Given the description of an element on the screen output the (x, y) to click on. 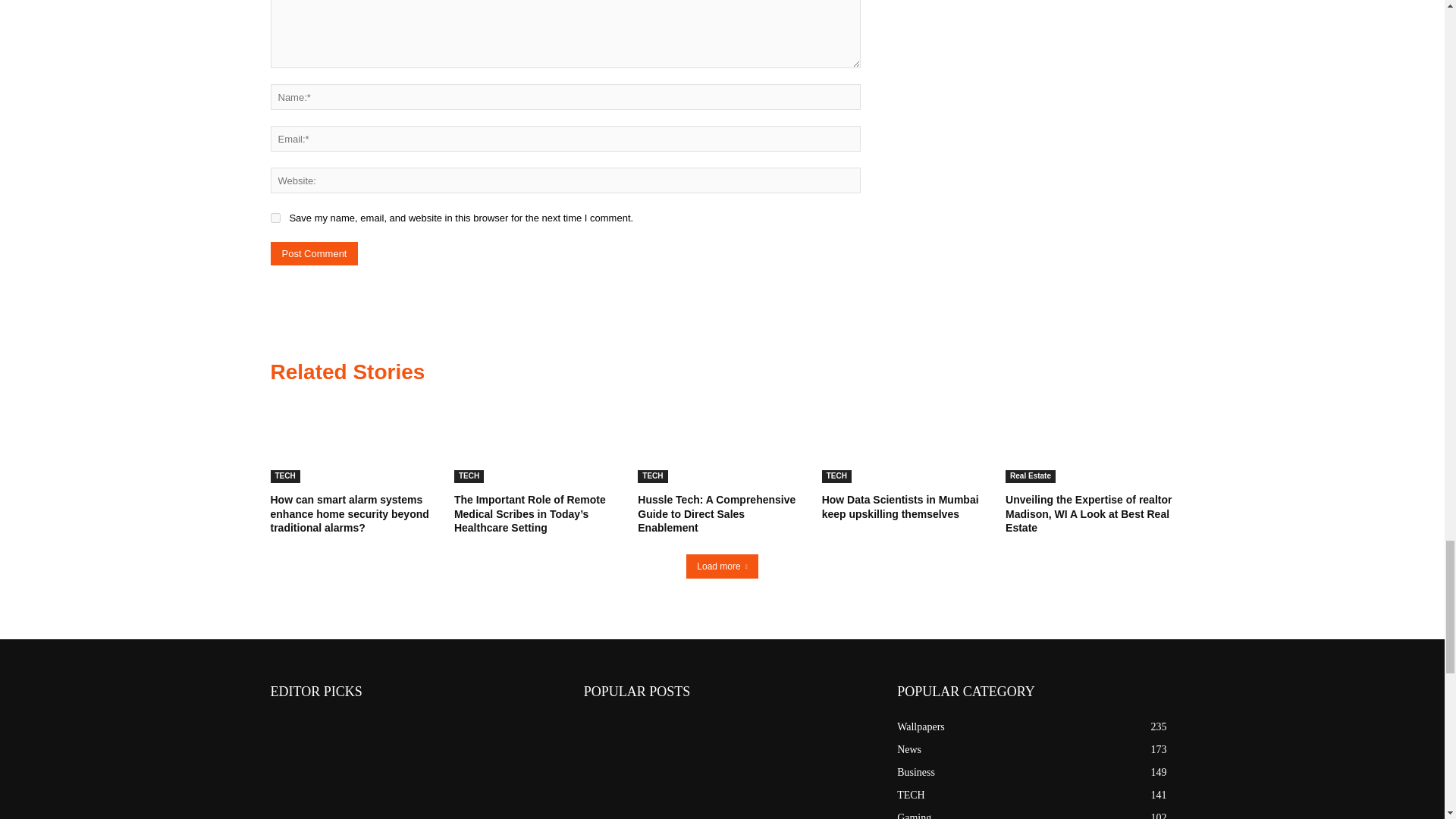
yes (274, 217)
Post Comment (313, 253)
